Given the description of an element on the screen output the (x, y) to click on. 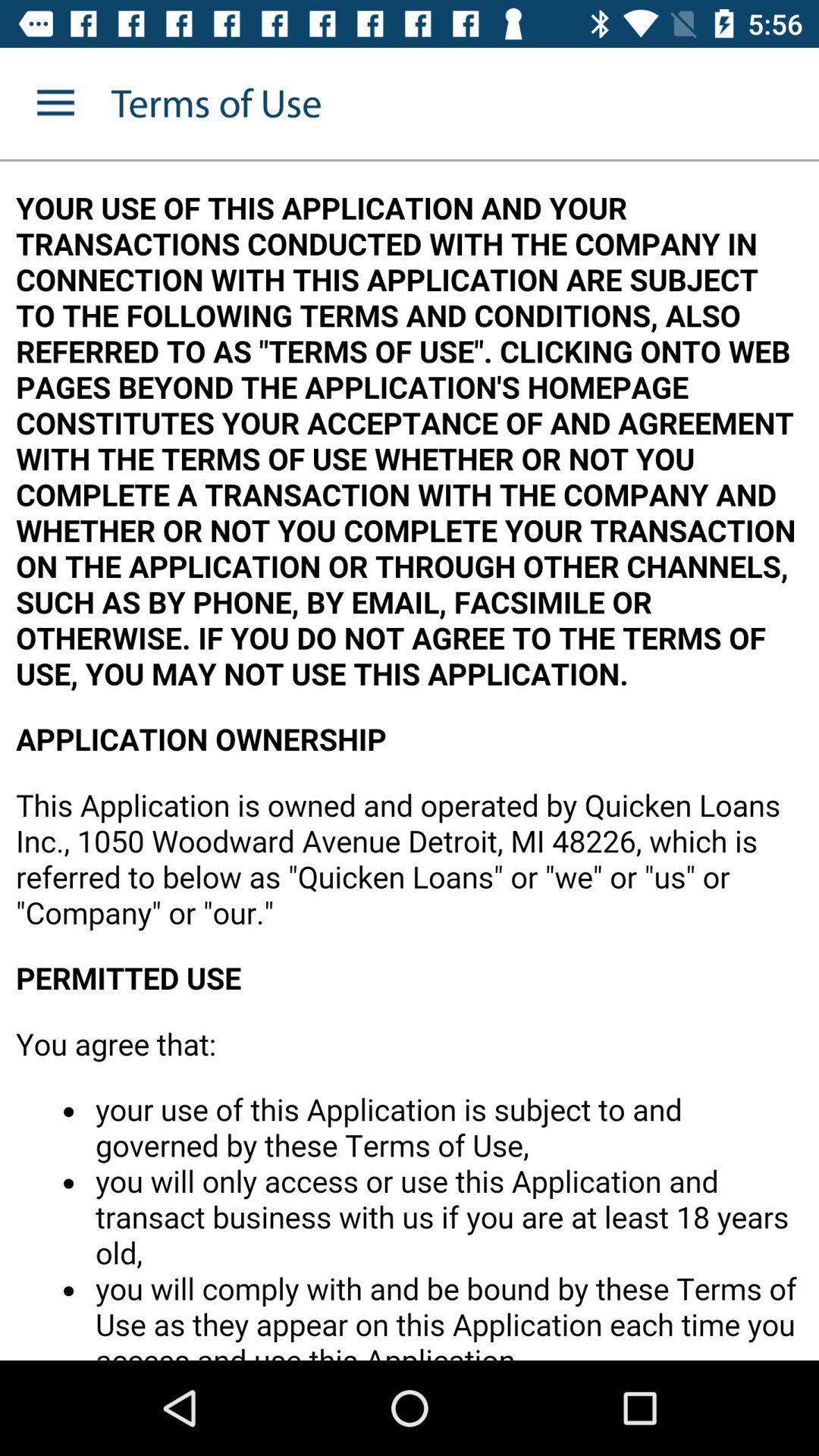
article area (409, 760)
